Given the description of an element on the screen output the (x, y) to click on. 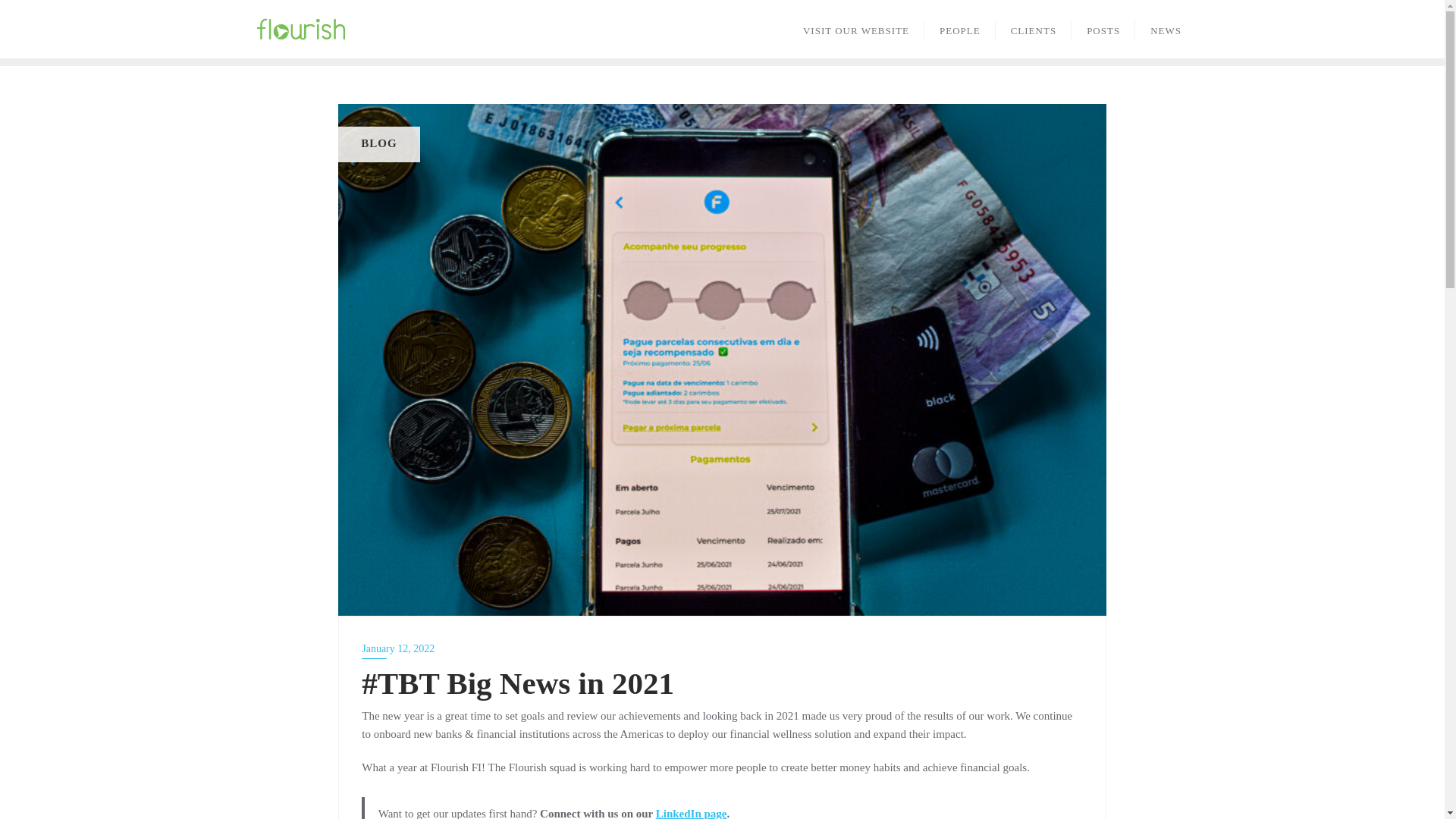
NEWS (1165, 29)
POSTS (1103, 29)
CLIENTS (1033, 29)
PEOPLE (959, 29)
VISIT OUR WEBSITE (855, 29)
January 12, 2022 (721, 648)
LinkedIn page (691, 813)
